Given the description of an element on the screen output the (x, y) to click on. 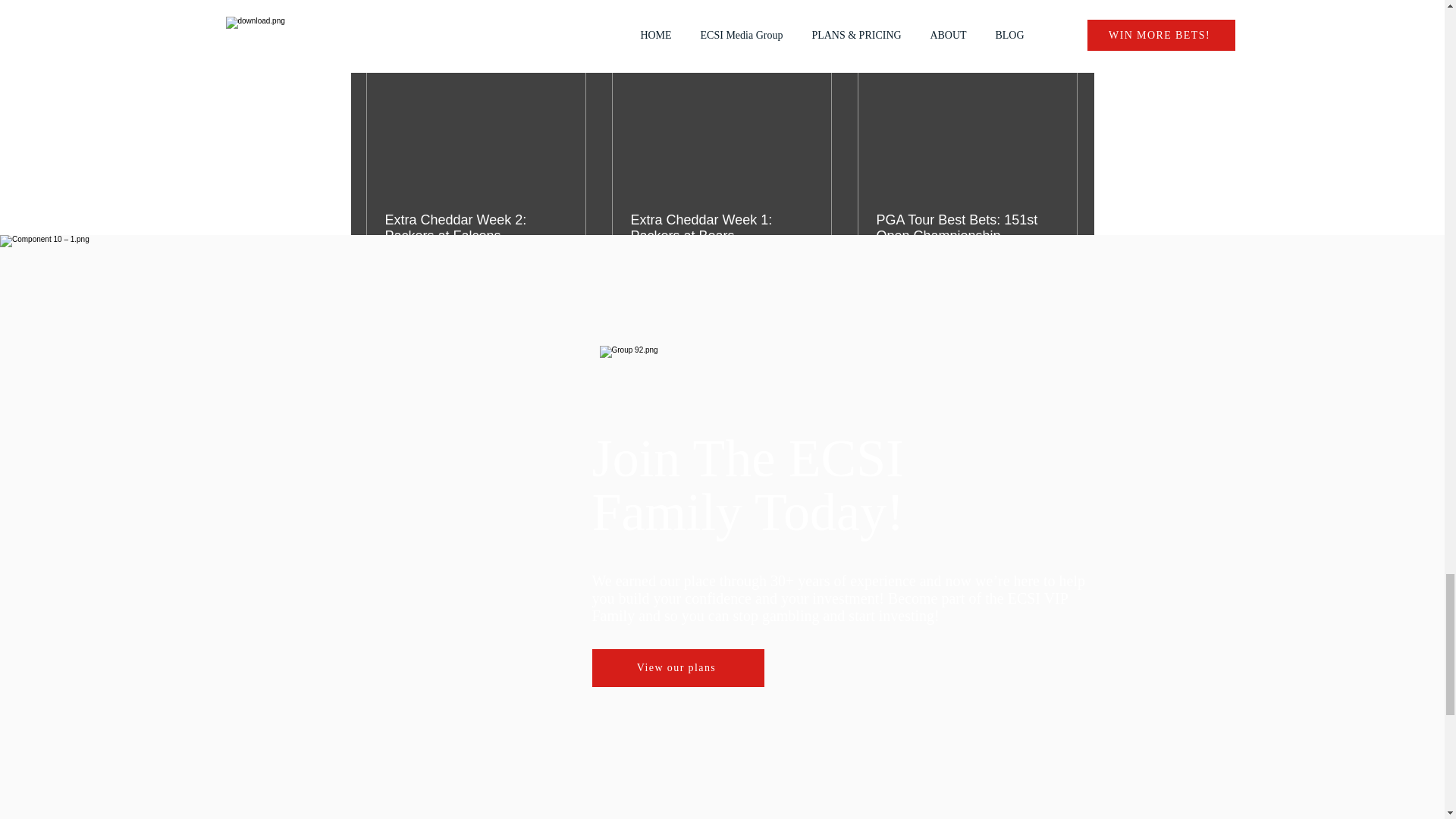
PGA Tour Best Bets: 151st Open Championship (967, 228)
Extra Cheddar Week 2: Packers at Falcons (476, 228)
See All (1061, 44)
0 (685, 280)
Post not marked as liked (558, 280)
View our plans (676, 668)
0 (800, 280)
0 (435, 280)
Post not marked as liked (926, 280)
